Given the description of an element on the screen output the (x, y) to click on. 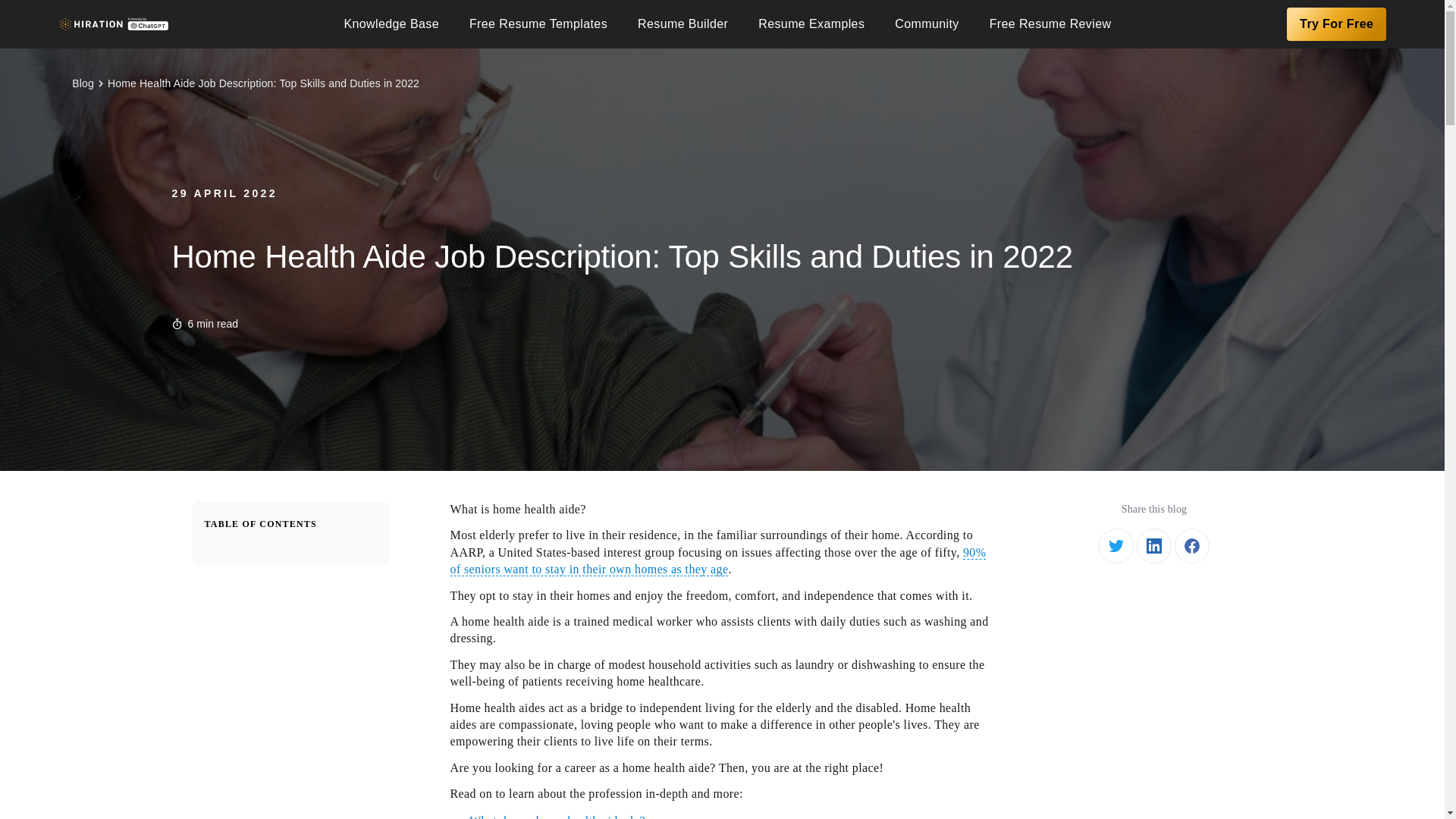
Try For Free (1336, 23)
Free Resume Review (1050, 23)
Free Resume Templates (537, 23)
Resume Examples (811, 23)
Knowledge Base (390, 23)
Community (926, 23)
Resume Builder (682, 23)
What does a home health aide do? (556, 816)
